Given the description of an element on the screen output the (x, y) to click on. 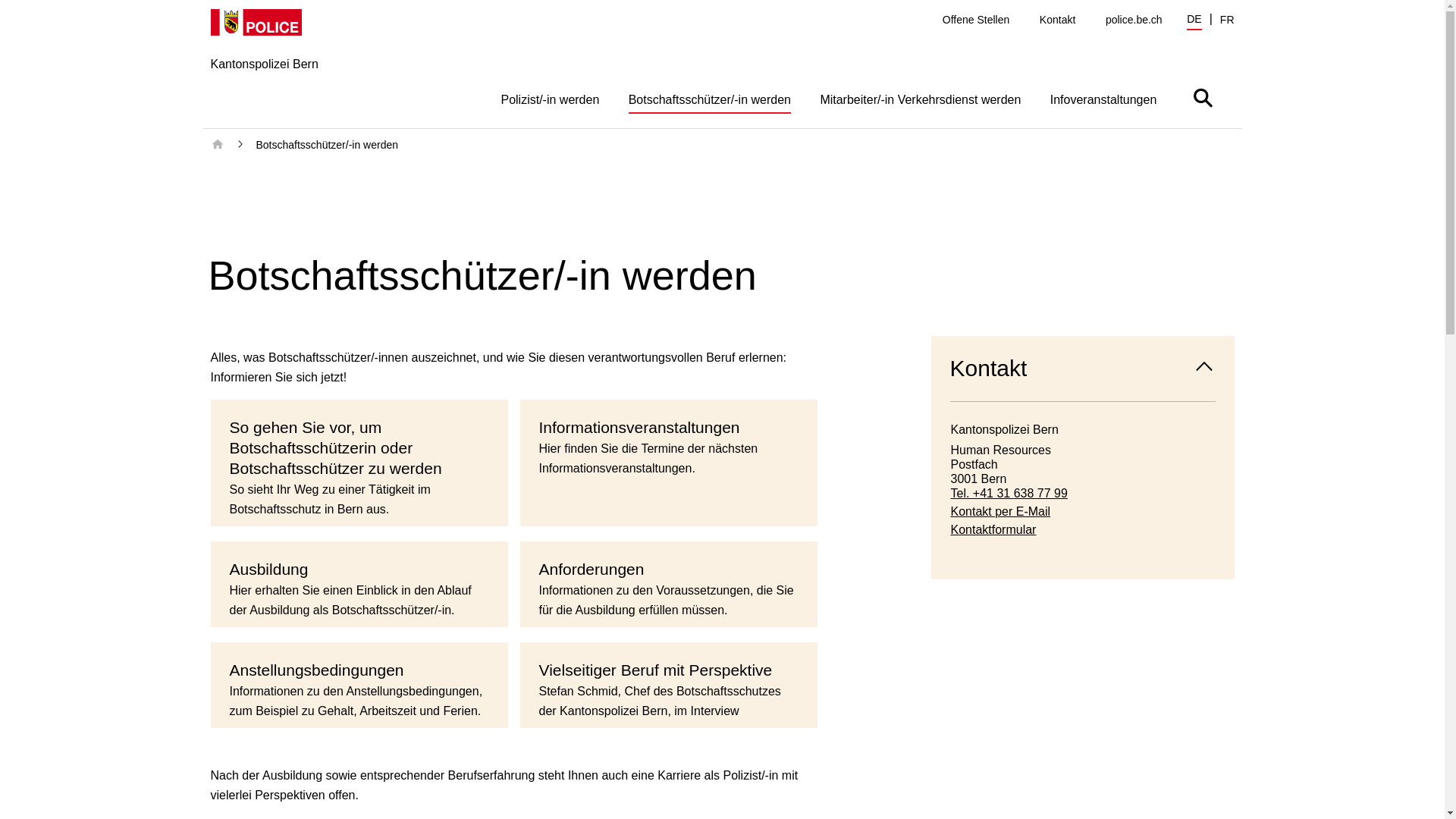
FR Element type: text (1227, 19)
DE Element type: text (1193, 21)
Kontakt Element type: text (1082, 368)
police.be.ch Element type: text (1133, 19)
Polizist/-in werden Element type: text (549, 97)
Kontakt per E-Mail Element type: text (1082, 511)
Suche ein- oder ausblenden Element type: text (1201, 96)
Mitarbeiter/-in Verkehrsdienst werden Element type: text (920, 97)
Infoveranstaltungen Element type: text (1103, 97)
Tel. +41 31 638 77 99 Element type: text (1082, 493)
Kontaktformular Element type: text (1082, 529)
Kantonspolizei Bern Element type: text (264, 68)
Kontakt Element type: text (1057, 19)
Offene Stellen Element type: text (975, 19)
